Given the description of an element on the screen output the (x, y) to click on. 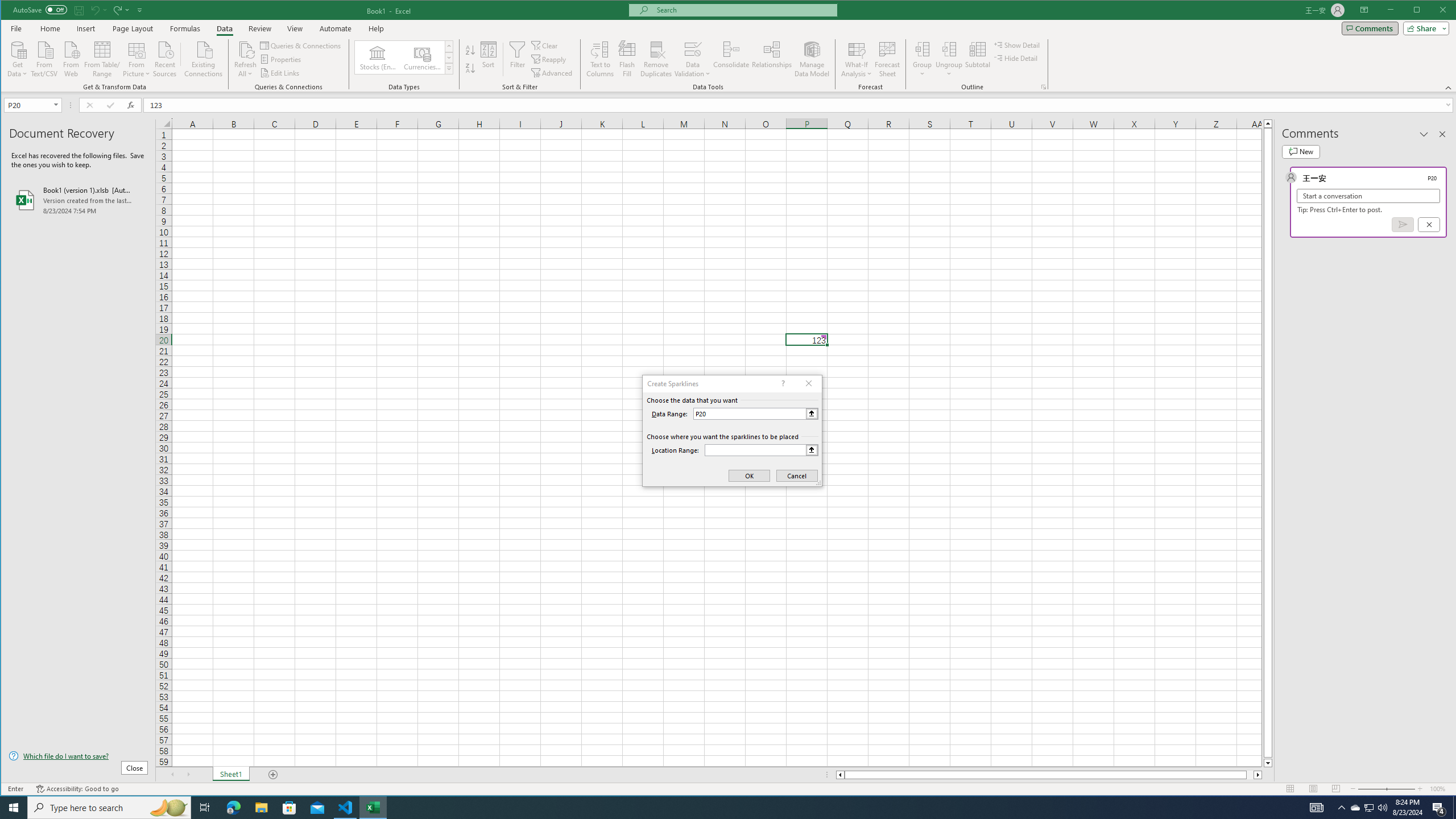
New comment (1300, 151)
